Given the description of an element on the screen output the (x, y) to click on. 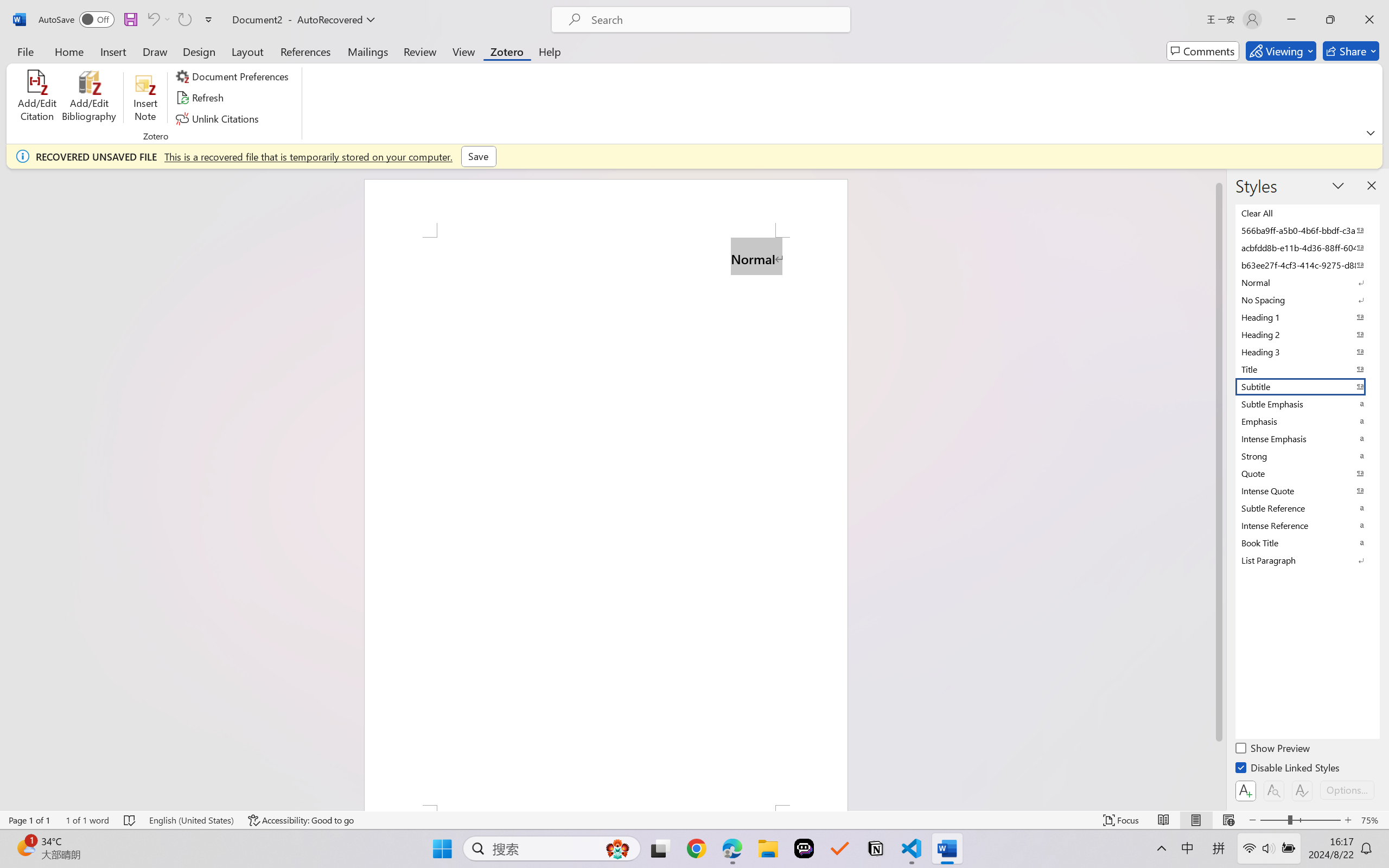
Title (1306, 369)
Page Number Page 1 of 1 (29, 819)
Page 1 content (605, 521)
Subtle Reference (1306, 508)
Strong (1306, 456)
Clear All (1306, 213)
